Given the description of an element on the screen output the (x, y) to click on. 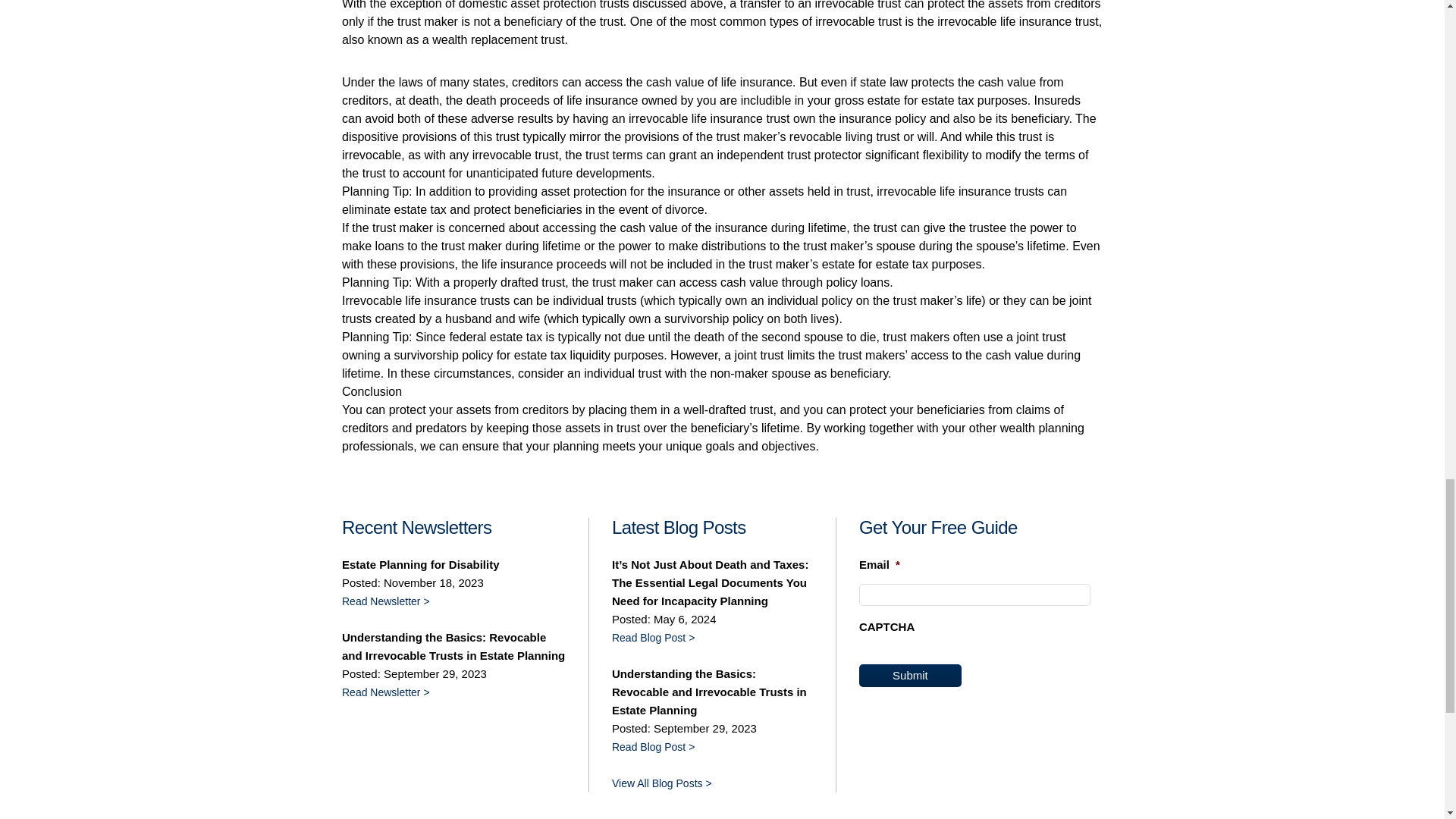
Submit (909, 675)
